Given the description of an element on the screen output the (x, y) to click on. 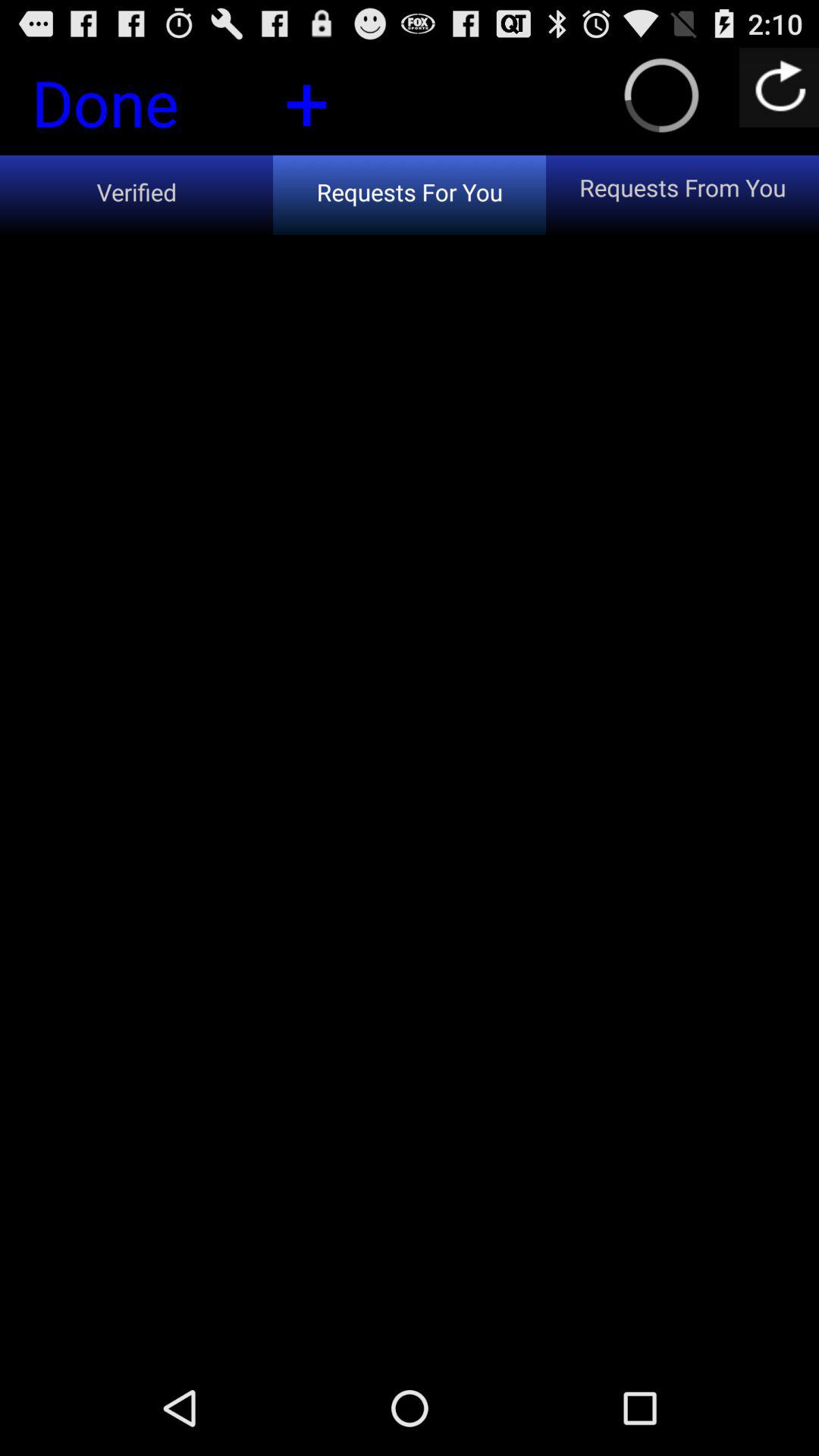
turn on the icon to the left of requests for you (136, 194)
